Given the description of an element on the screen output the (x, y) to click on. 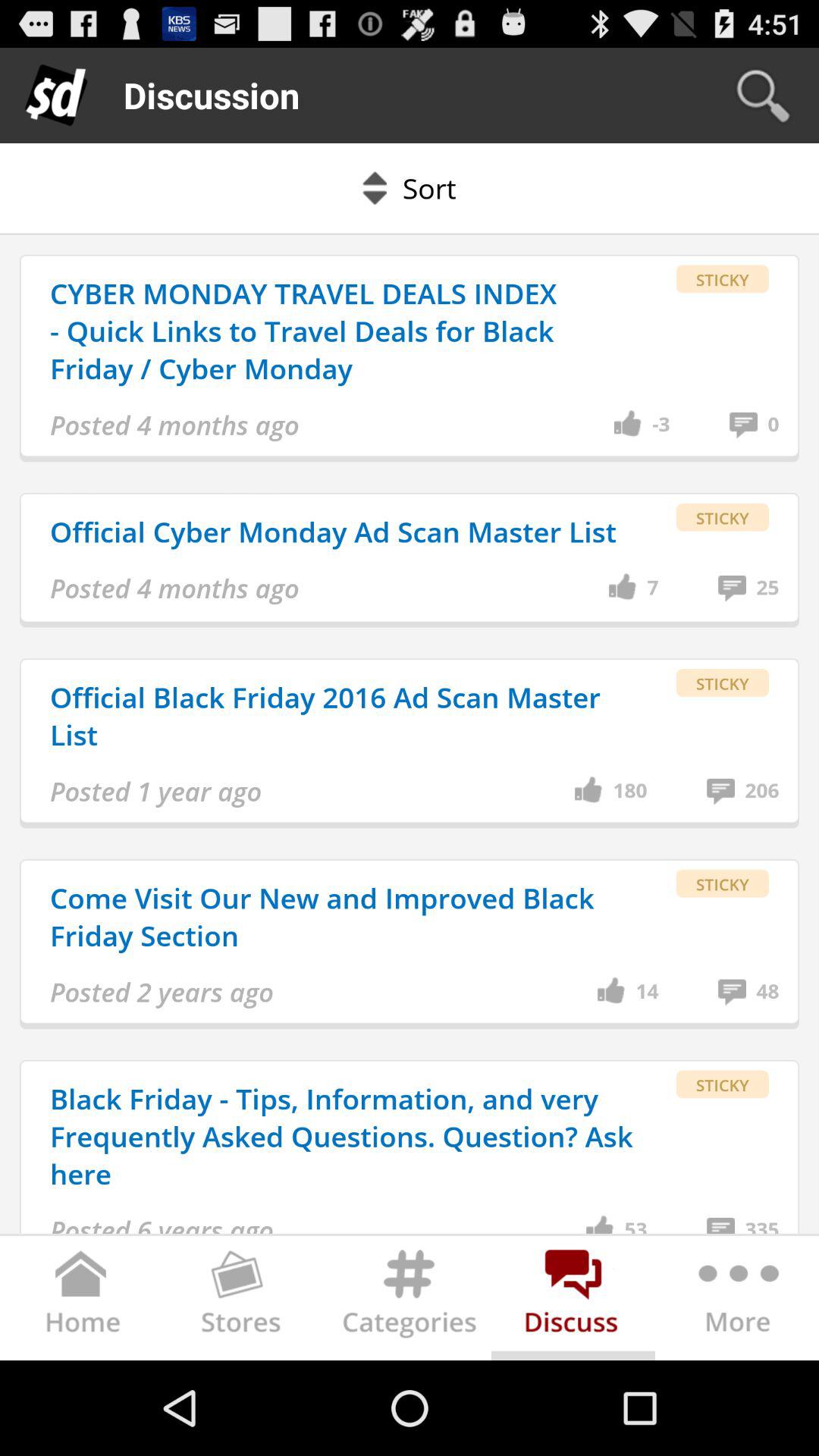
discuss (573, 1301)
